Given the description of an element on the screen output the (x, y) to click on. 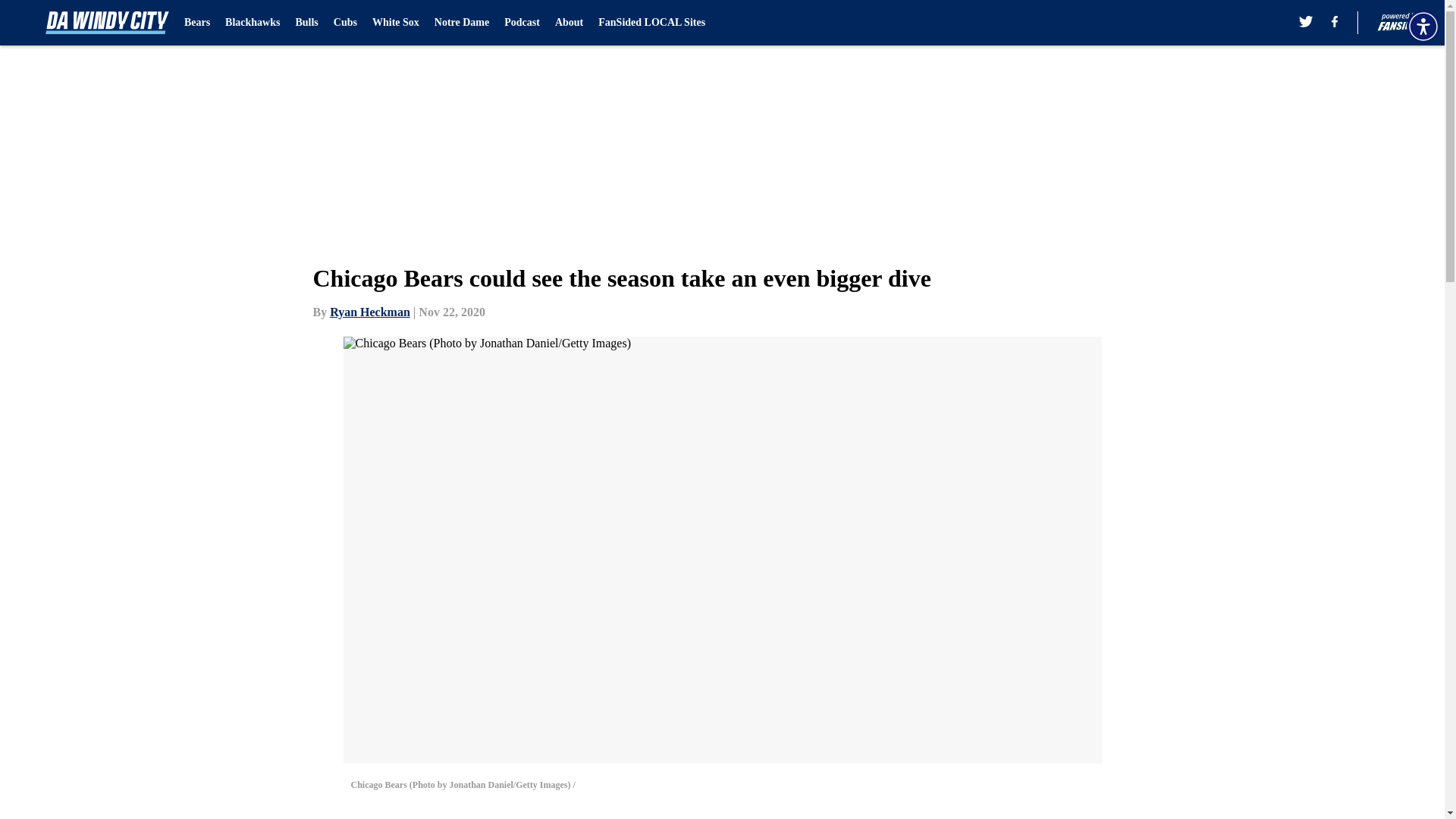
Podcast (521, 22)
Accessibility Menu (1422, 26)
White Sox (395, 22)
Ryan Heckman (370, 311)
Bears (196, 22)
About (568, 22)
Bulls (306, 22)
Cubs (344, 22)
Notre Dame (461, 22)
Blackhawks (252, 22)
FanSided LOCAL Sites (651, 22)
